Given the description of an element on the screen output the (x, y) to click on. 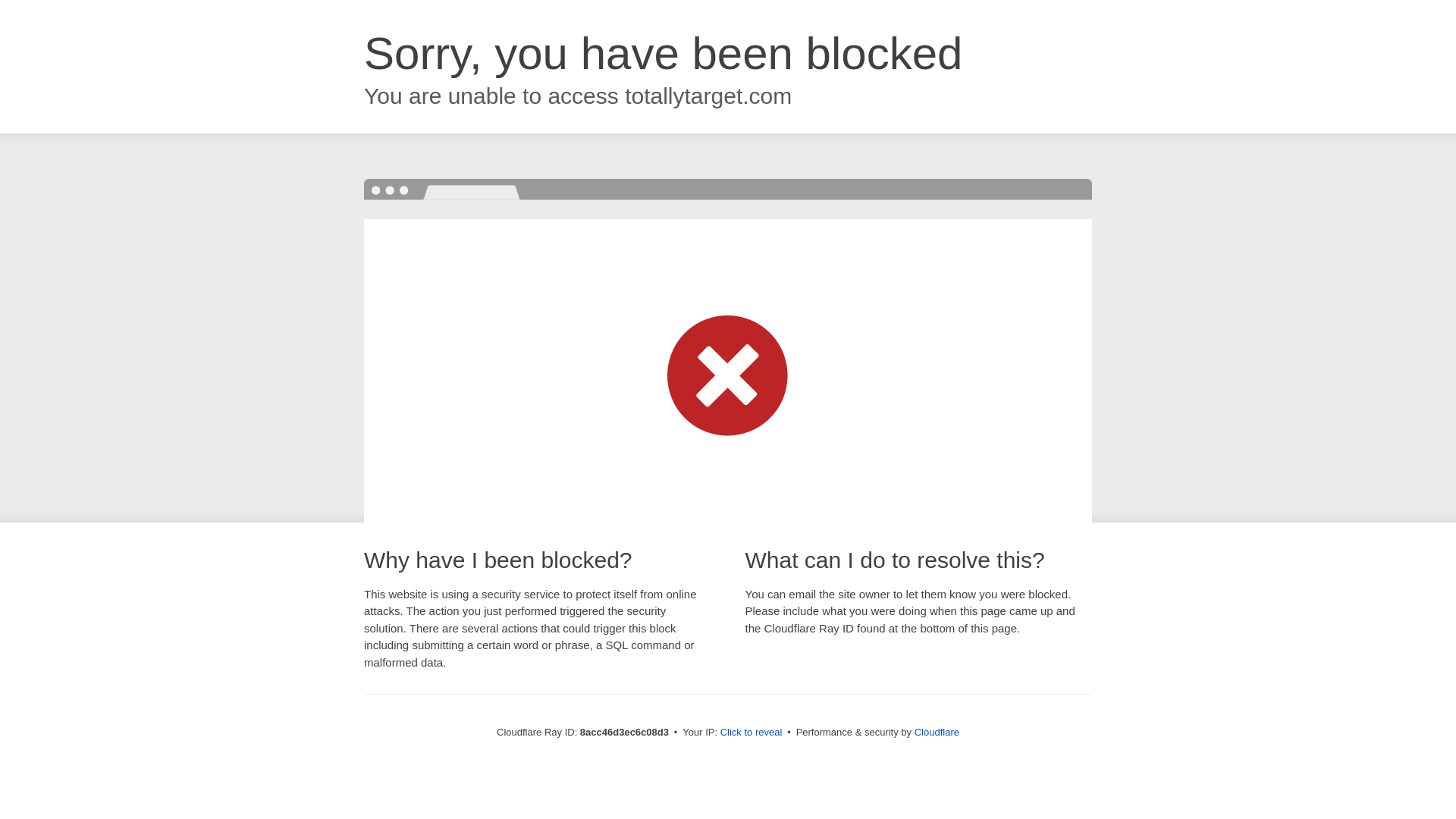
Click to reveal (751, 732)
Cloudflare (936, 731)
